Given the description of an element on the screen output the (x, y) to click on. 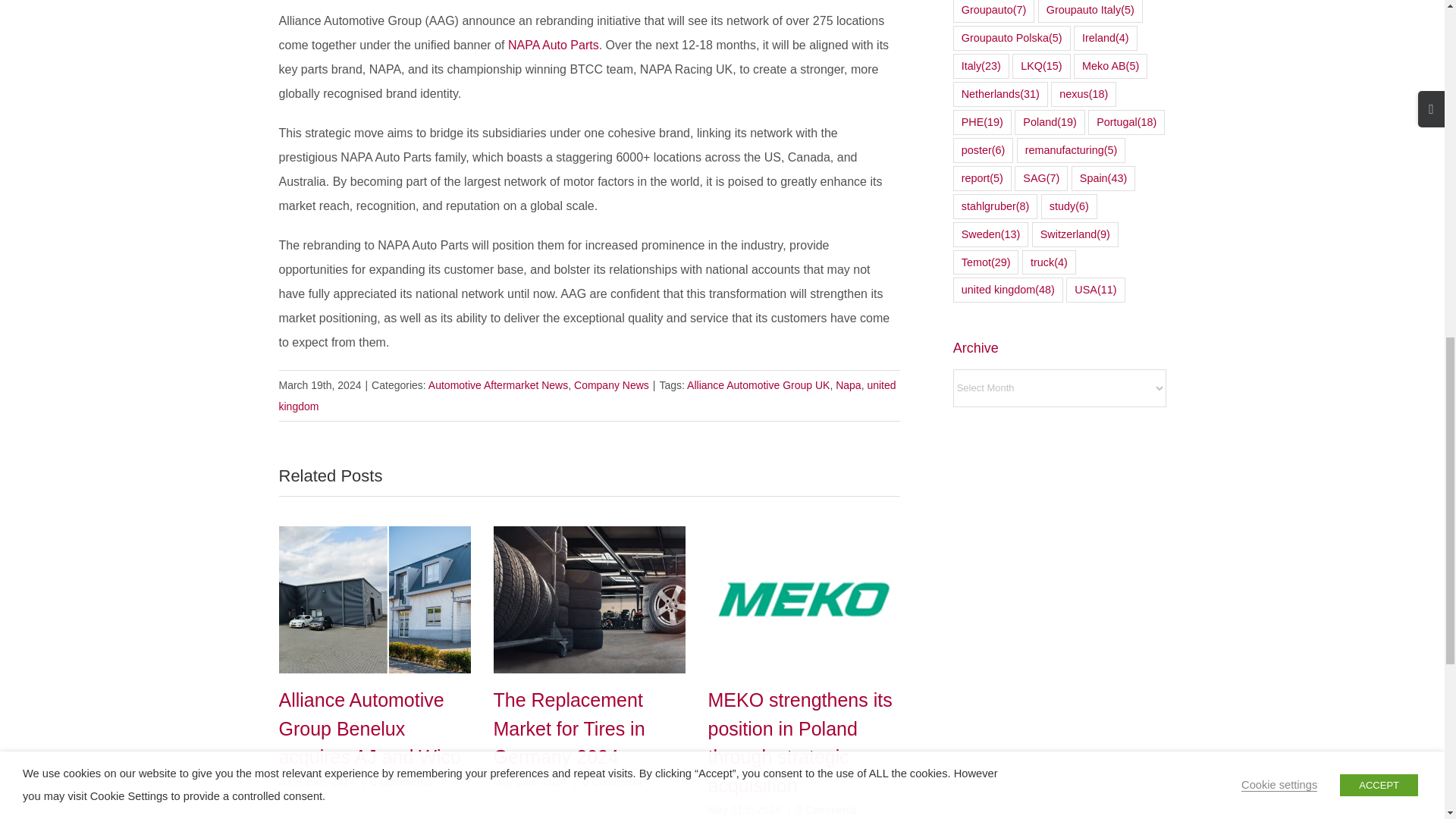
The Replacement Market for Tires in Germany 2024 (569, 728)
Alliance Automotive Group Benelux acquires AJ and Wico (370, 728)
